Given the description of an element on the screen output the (x, y) to click on. 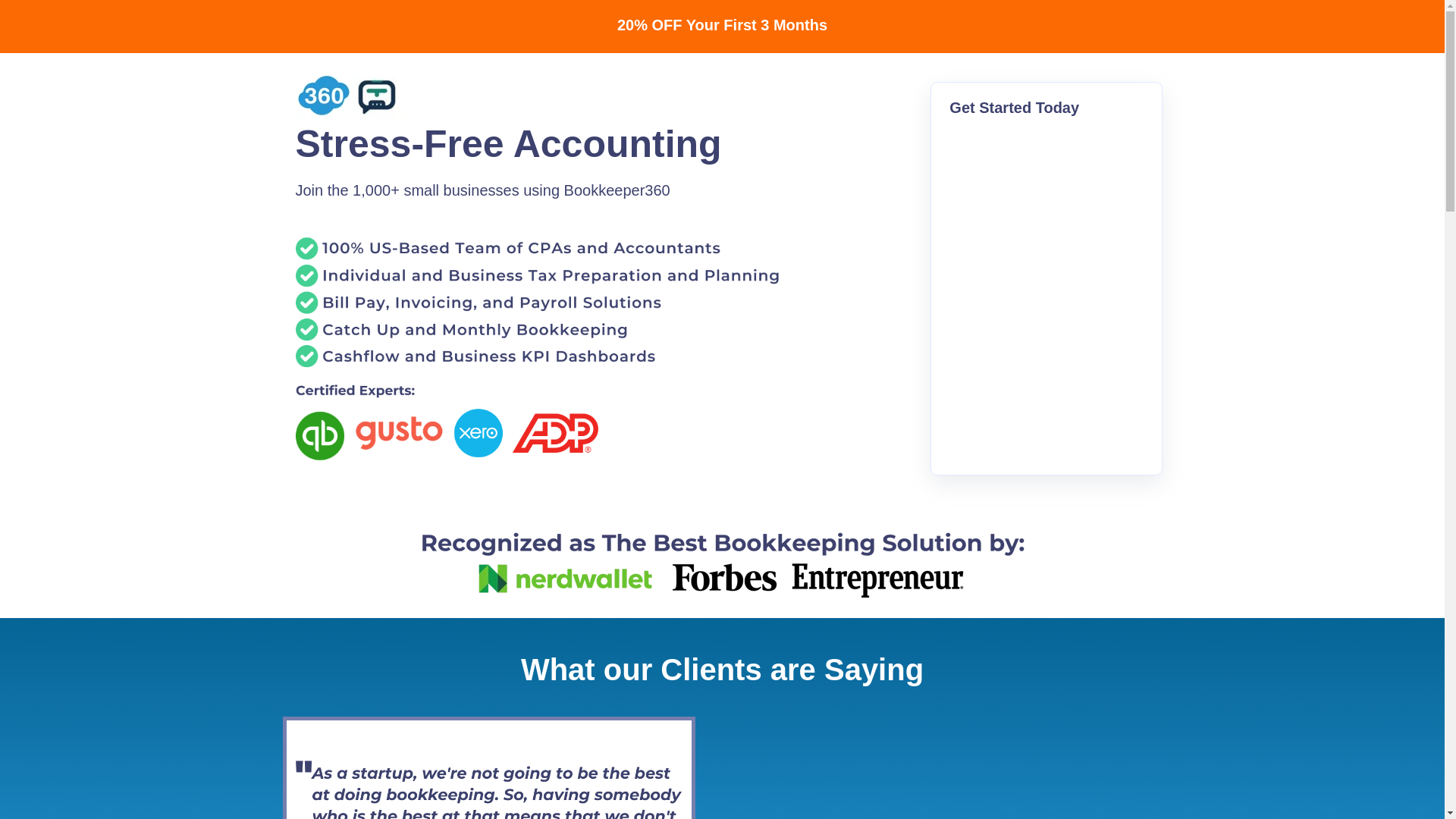
undefined (955, 763)
Recognized as The best Bookkeeping solution (721, 559)
Canva Design DAFOFfGCNI0-Oct-04-2022-05-15-58-87-PM (370, 95)
